Given the description of an element on the screen output the (x, y) to click on. 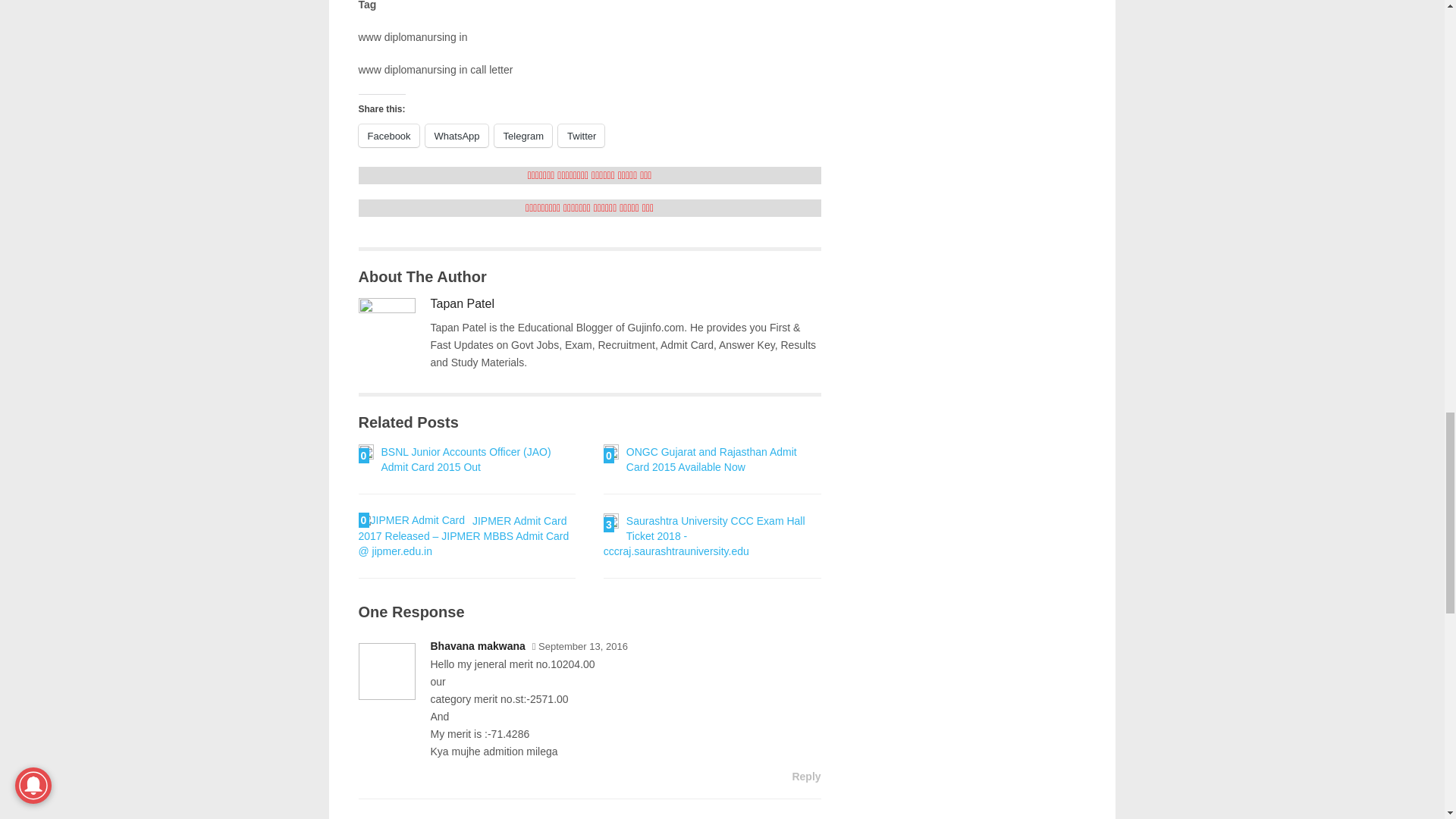
Click to share on Telegram (523, 135)
Click to share on Facebook (388, 135)
Click to share on Twitter (580, 135)
Click to share on WhatsApp (456, 135)
